Given the description of an element on the screen output the (x, y) to click on. 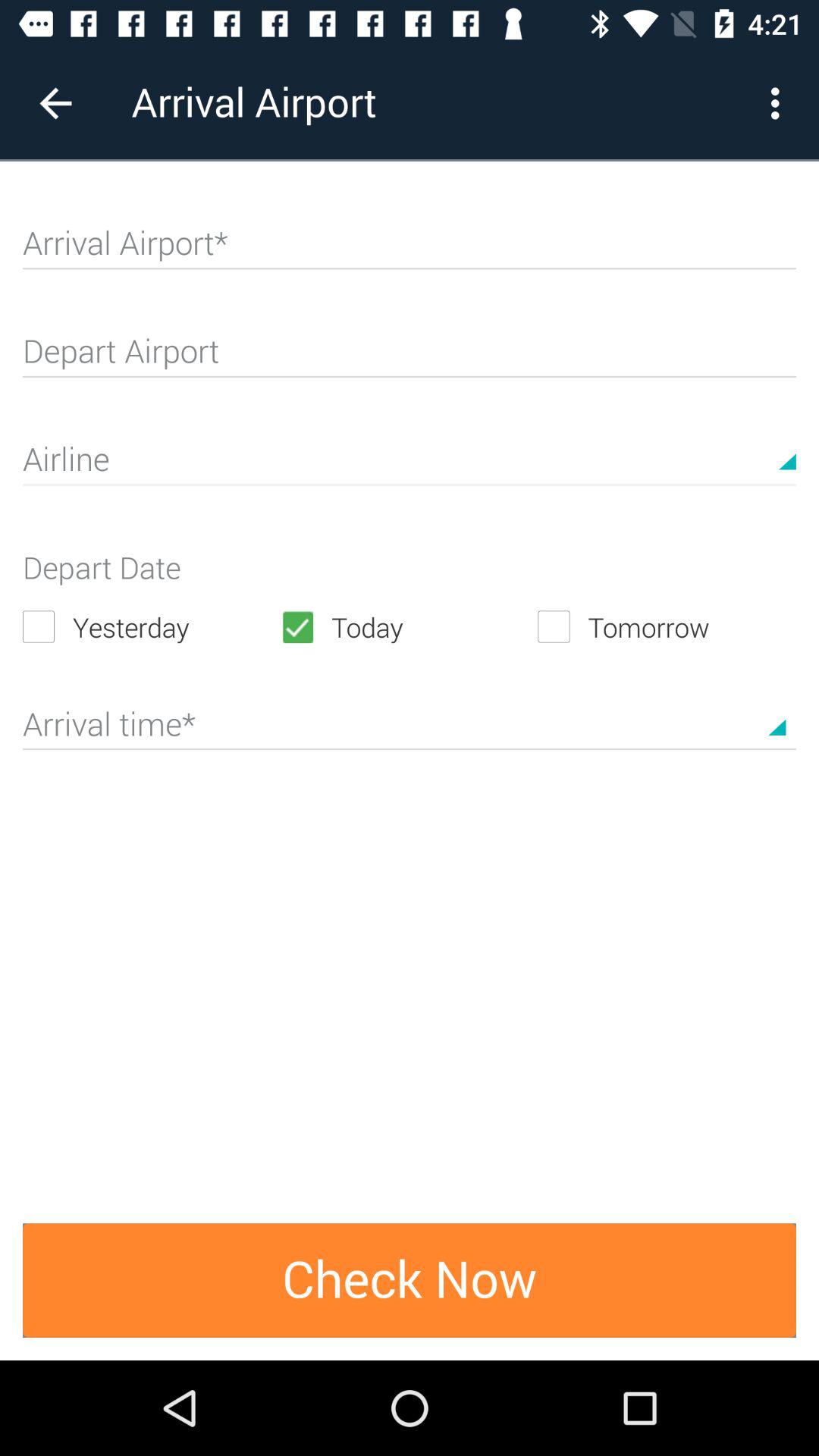
turn on icon to the right of the yesterday icon (409, 626)
